Given the description of an element on the screen output the (x, y) to click on. 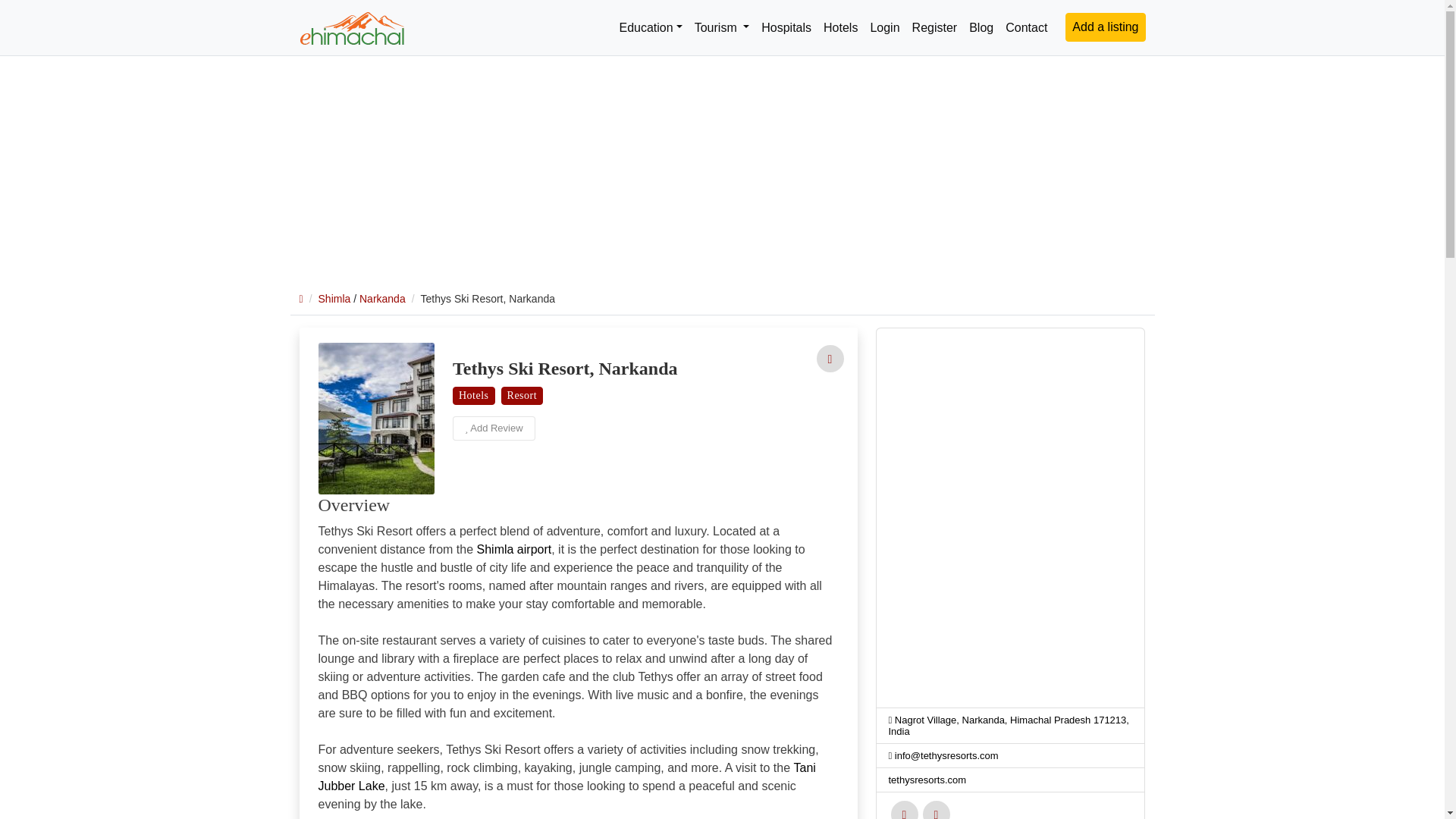
Login (829, 358)
Tourism (721, 27)
Education (649, 27)
